Given the description of an element on the screen output the (x, y) to click on. 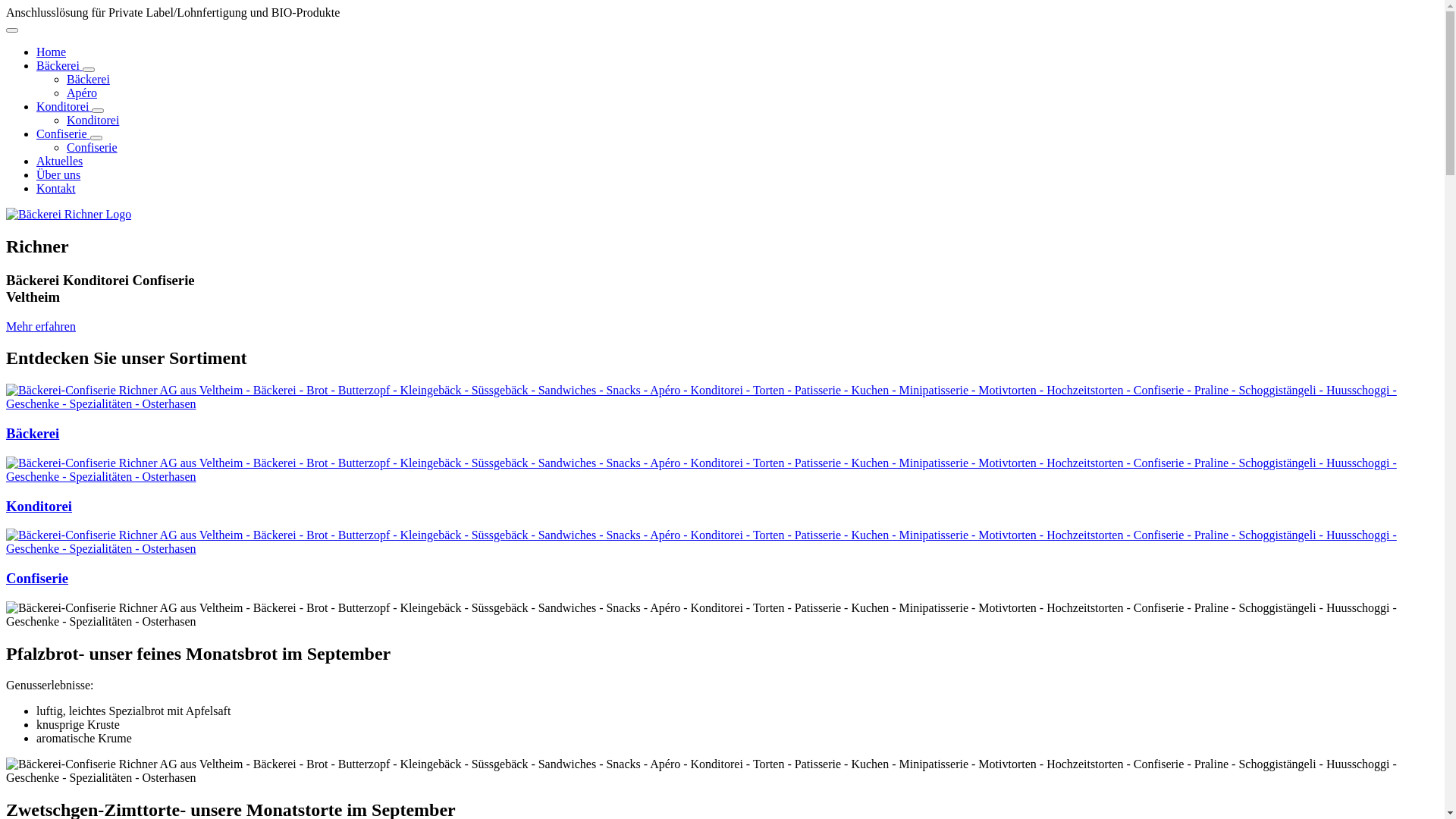
Konditorei Element type: text (92, 119)
Aktuelles Element type: text (59, 160)
Home Element type: text (50, 51)
Confiserie Element type: text (37, 578)
Confiserie Element type: text (63, 133)
Kontakt Element type: text (55, 188)
Konditorei Element type: text (39, 505)
Konditorei Element type: text (63, 106)
Mehr erfahren Element type: text (40, 326)
Confiserie Element type: text (91, 147)
